Given the description of an element on the screen output the (x, y) to click on. 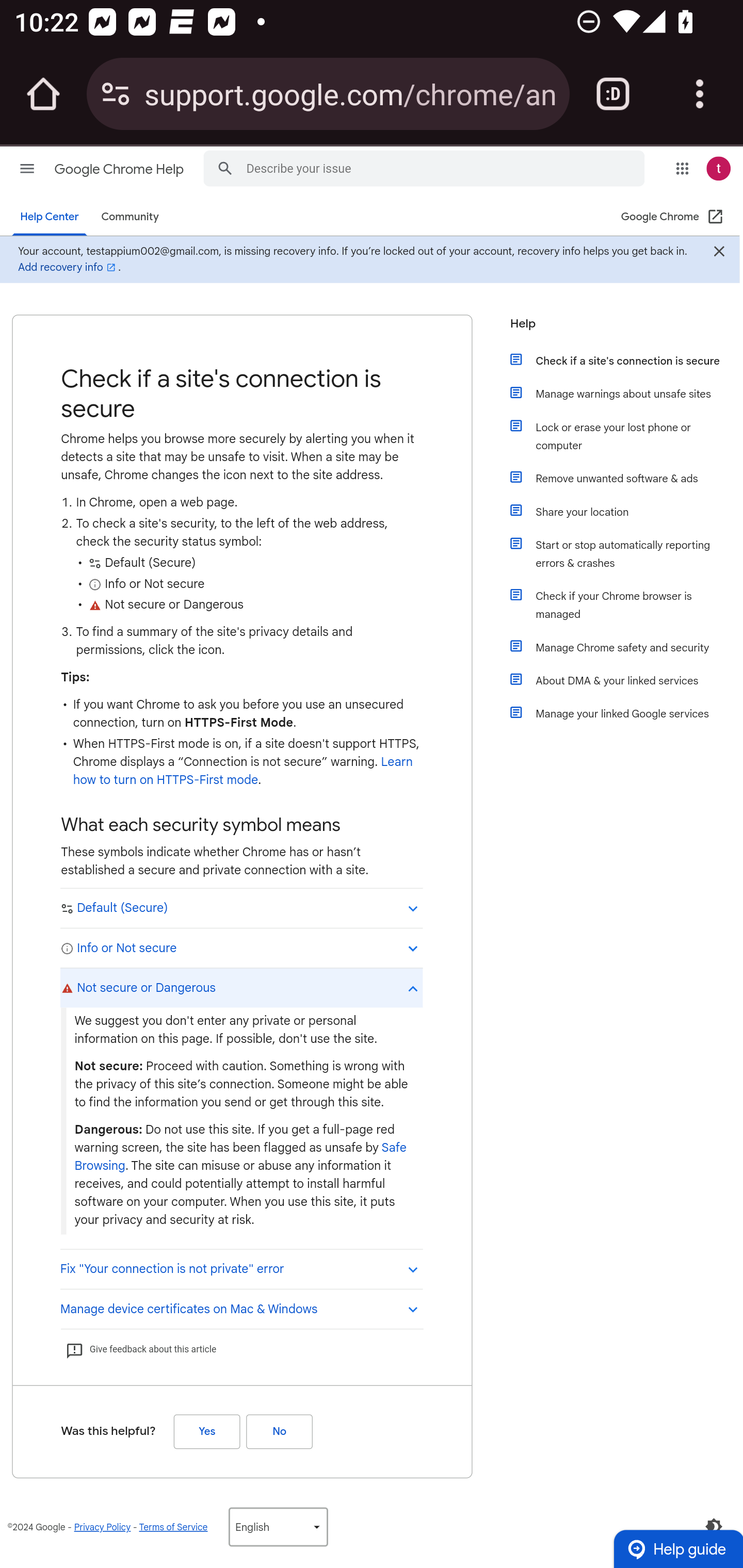
Open the home page (43, 93)
Connection is secure (115, 93)
Switch or close tabs (612, 93)
Customize and control Google Chrome (699, 93)
